Given the description of an element on the screen output the (x, y) to click on. 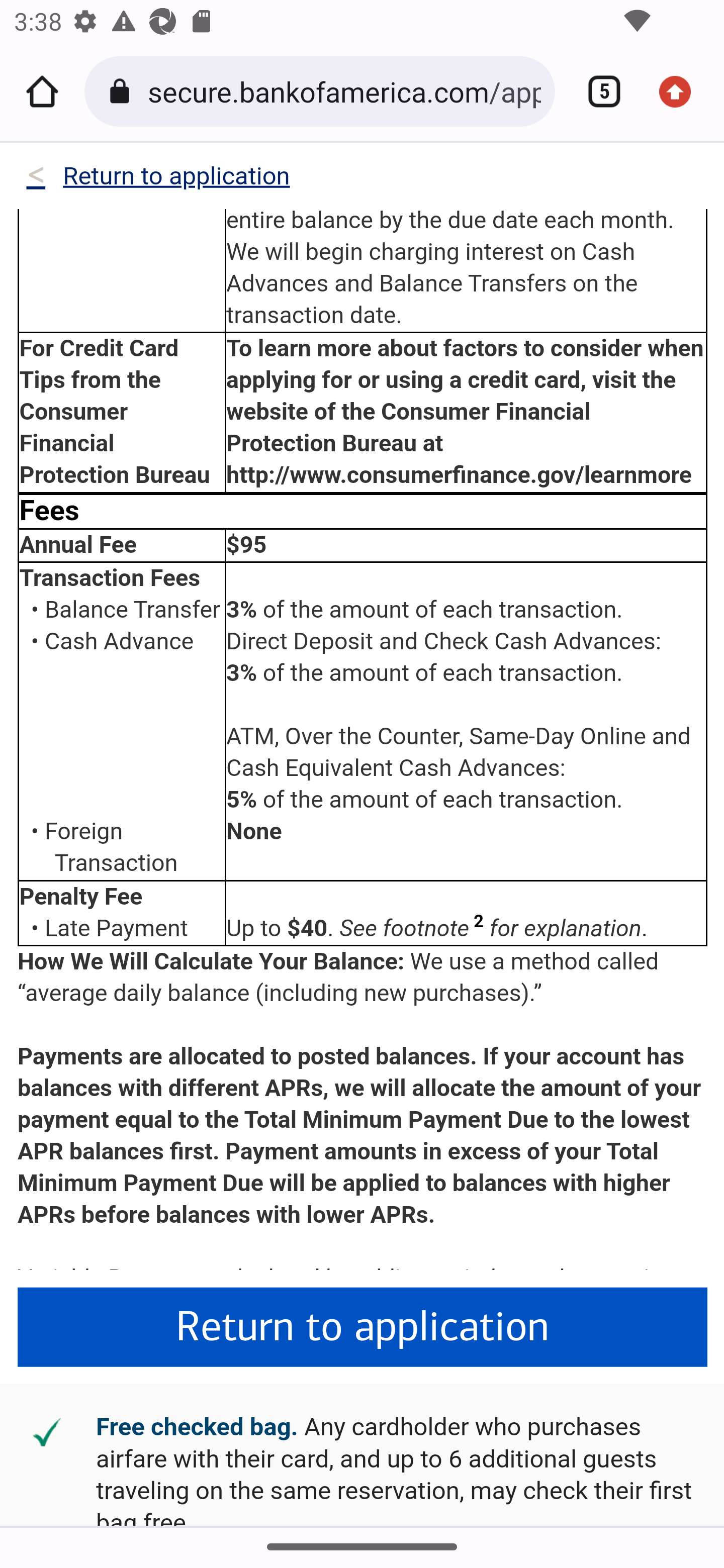
Home (42, 91)
Connection is secure (122, 91)
Switch or close tabs (597, 91)
Update available. More options (681, 91)
<Return to application < Return to application (157, 180)
Return to application (362, 1327)
